Given the description of an element on the screen output the (x, y) to click on. 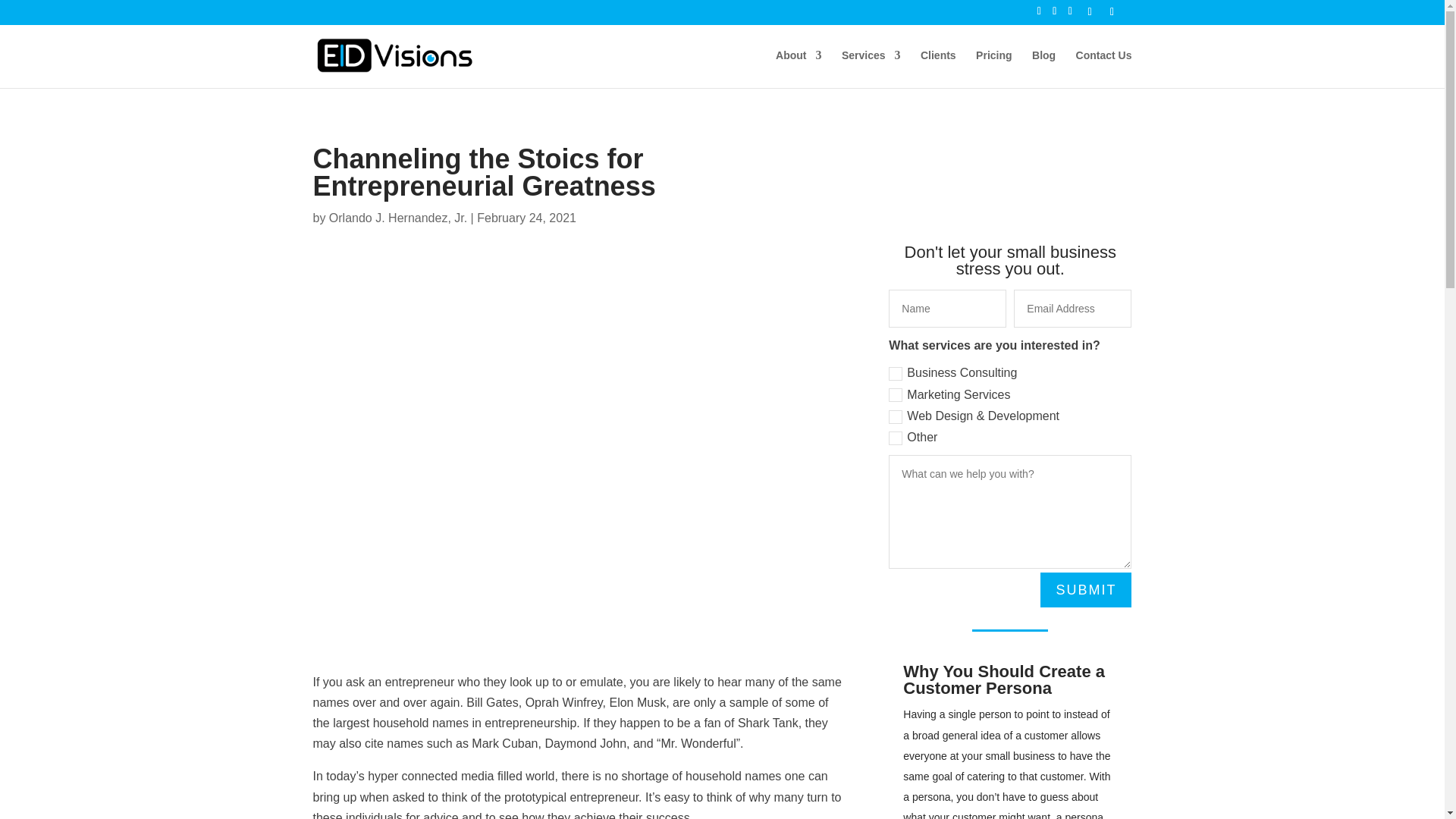
Contact Us (1103, 68)
Orlando J. Hernandez, Jr. (398, 217)
Posts by Orlando J. Hernandez, Jr. (398, 217)
Pricing (993, 68)
About (798, 68)
SUBMIT (1086, 589)
Services (871, 68)
Clients (938, 68)
Why You Should Create a Customer Persona (1003, 679)
